Given the description of an element on the screen output the (x, y) to click on. 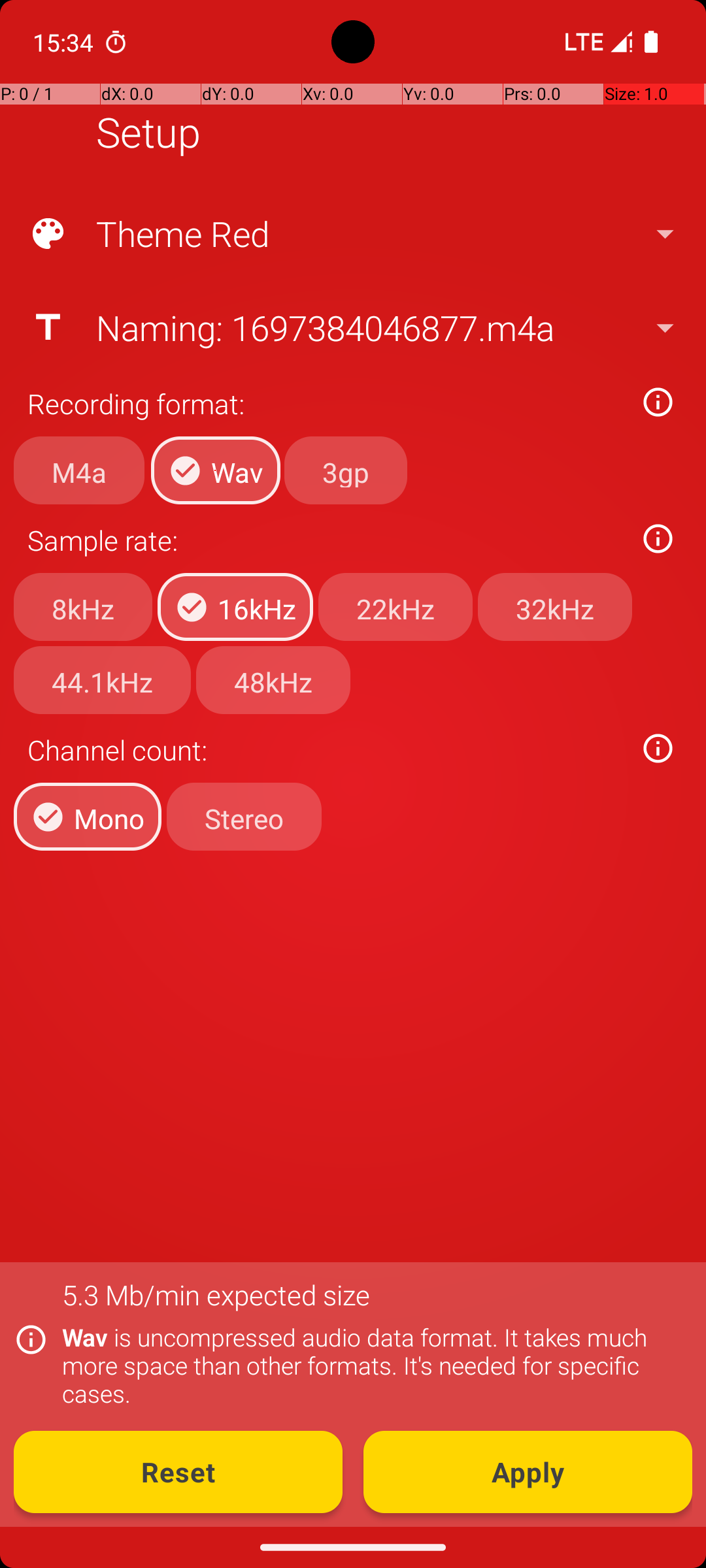
5.3 Mb/min expected size Element type: android.widget.TextView (215, 1294)
Wav is uncompressed audio data format. It takes much more space than other formats. It's needed for specific cases. Element type: android.widget.TextView (370, 1364)
Theme Red Element type: android.widget.TextView (352, 233)
Naming: 1697384046877.m4a Element type: android.widget.TextView (352, 327)
Clock notification:  Element type: android.widget.ImageView (115, 41)
